Given the description of an element on the screen output the (x, y) to click on. 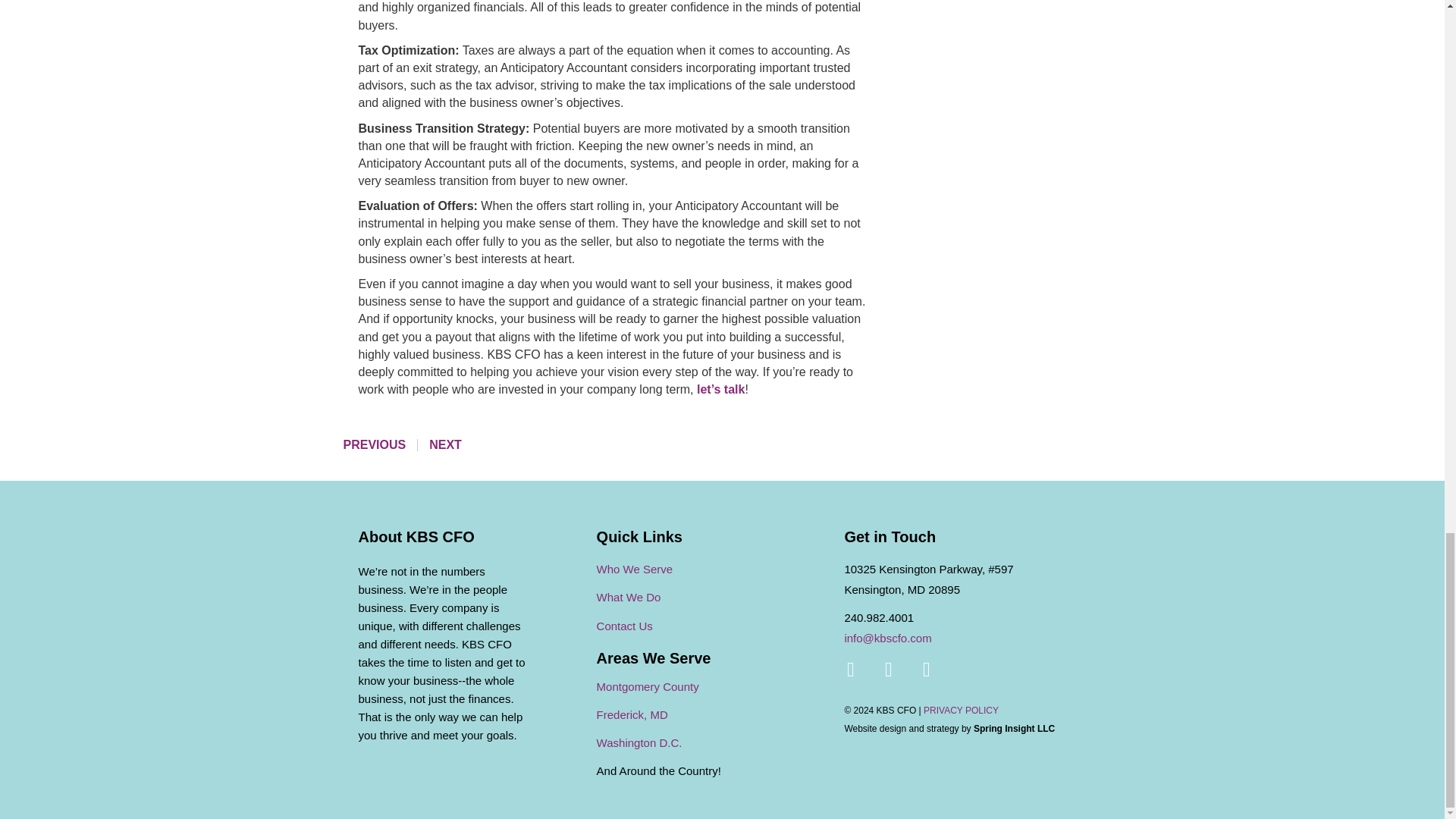
Spring Insight LLC (1014, 728)
What We Do (628, 596)
PREVIOUS (374, 444)
240.982.4001 (879, 617)
Washington D.C. (639, 742)
Who We Serve (634, 568)
Contact Us (624, 625)
NEXT (445, 444)
PRIVACY POLICY (960, 710)
Frederick, MD (632, 714)
